Given the description of an element on the screen output the (x, y) to click on. 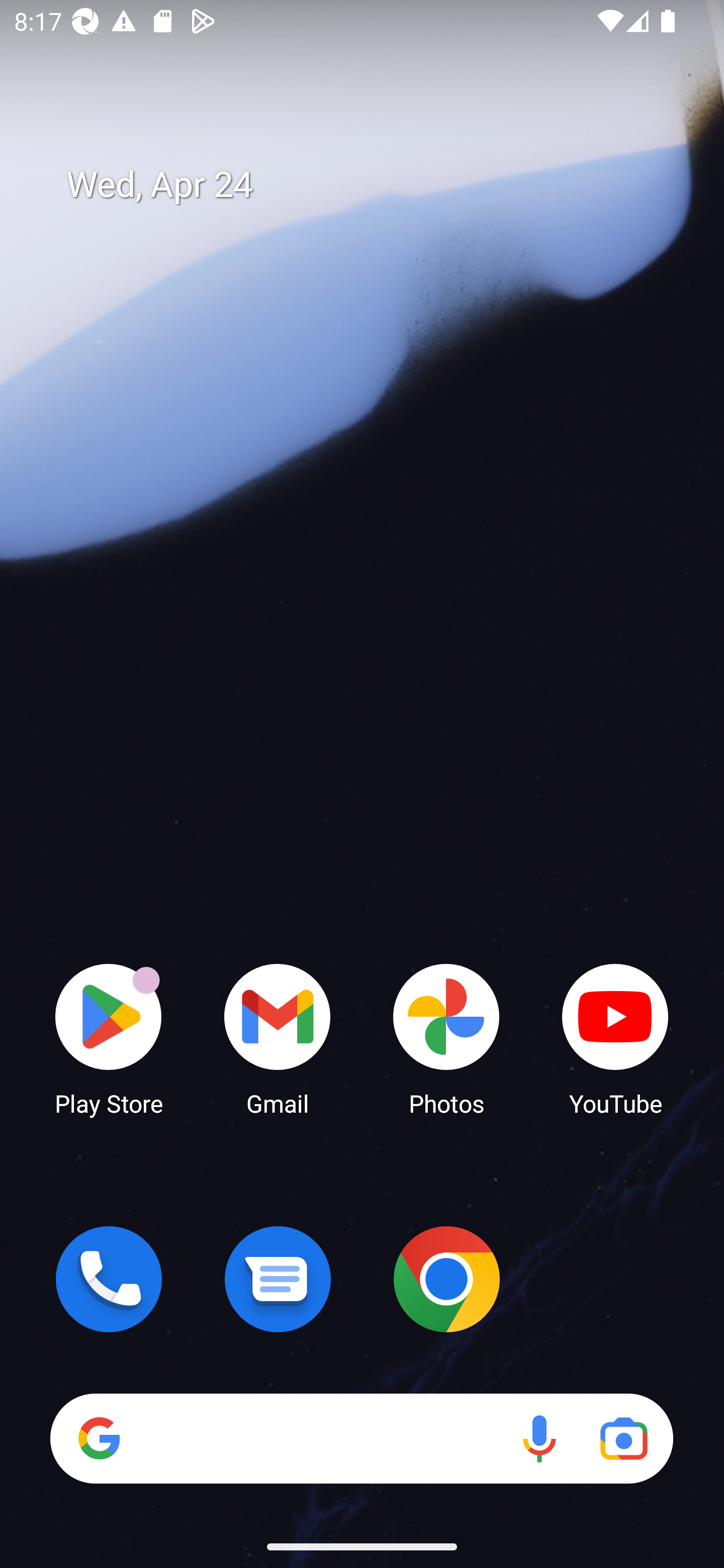
Wed, Apr 24 (375, 184)
Play Store Play Store has 1 notification (108, 1038)
Gmail (277, 1038)
Photos (445, 1038)
YouTube (615, 1038)
Phone (108, 1279)
Messages (277, 1279)
Chrome (446, 1279)
Search Voice search Google Lens (361, 1438)
Voice search (539, 1438)
Google Lens (623, 1438)
